Given the description of an element on the screen output the (x, y) to click on. 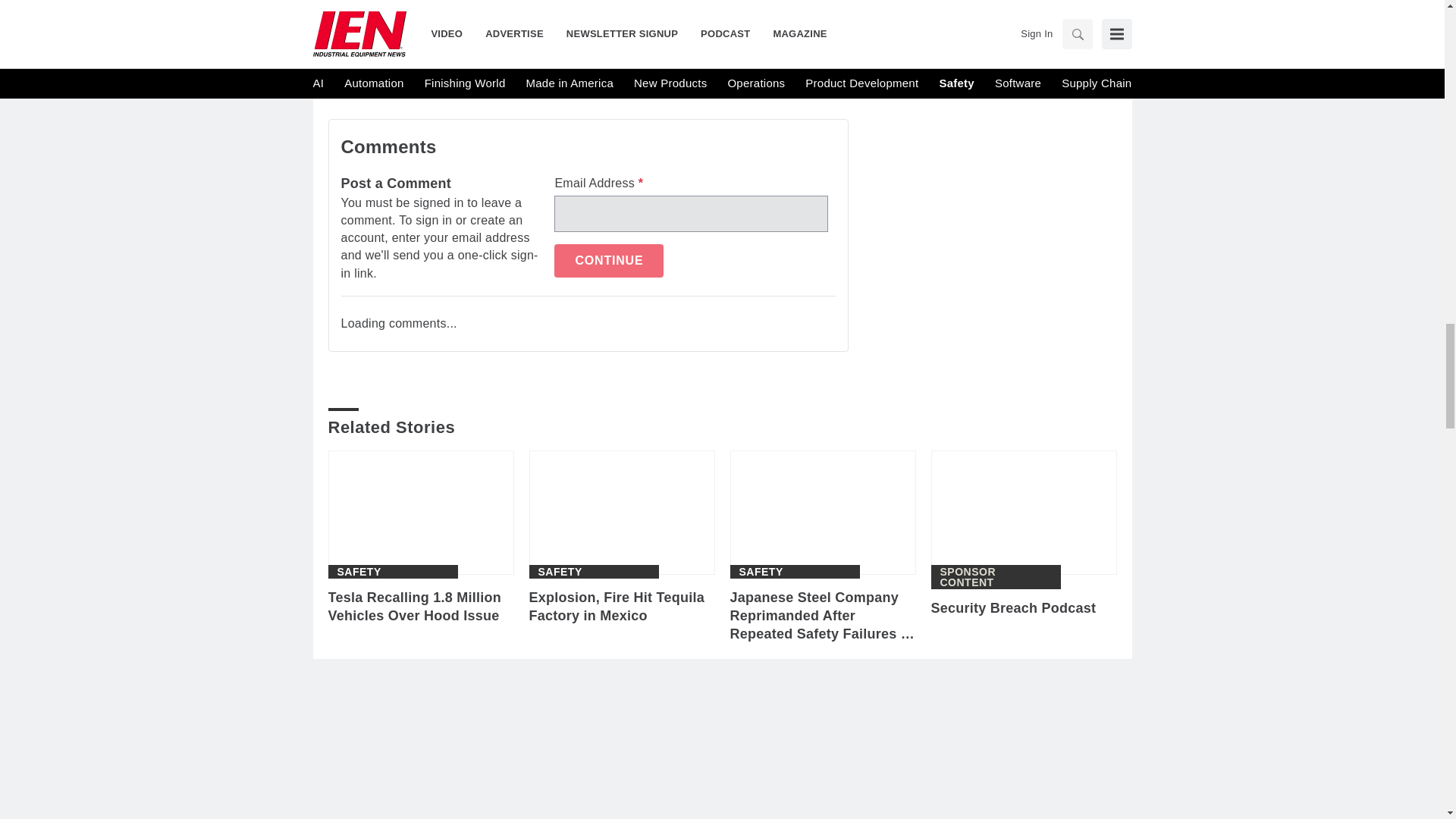
Share To pinterest (499, 55)
Share To linkedin (421, 55)
Share To print (342, 55)
Share To facebook (381, 55)
Share To twitter (460, 55)
